Given the description of an element on the screen output the (x, y) to click on. 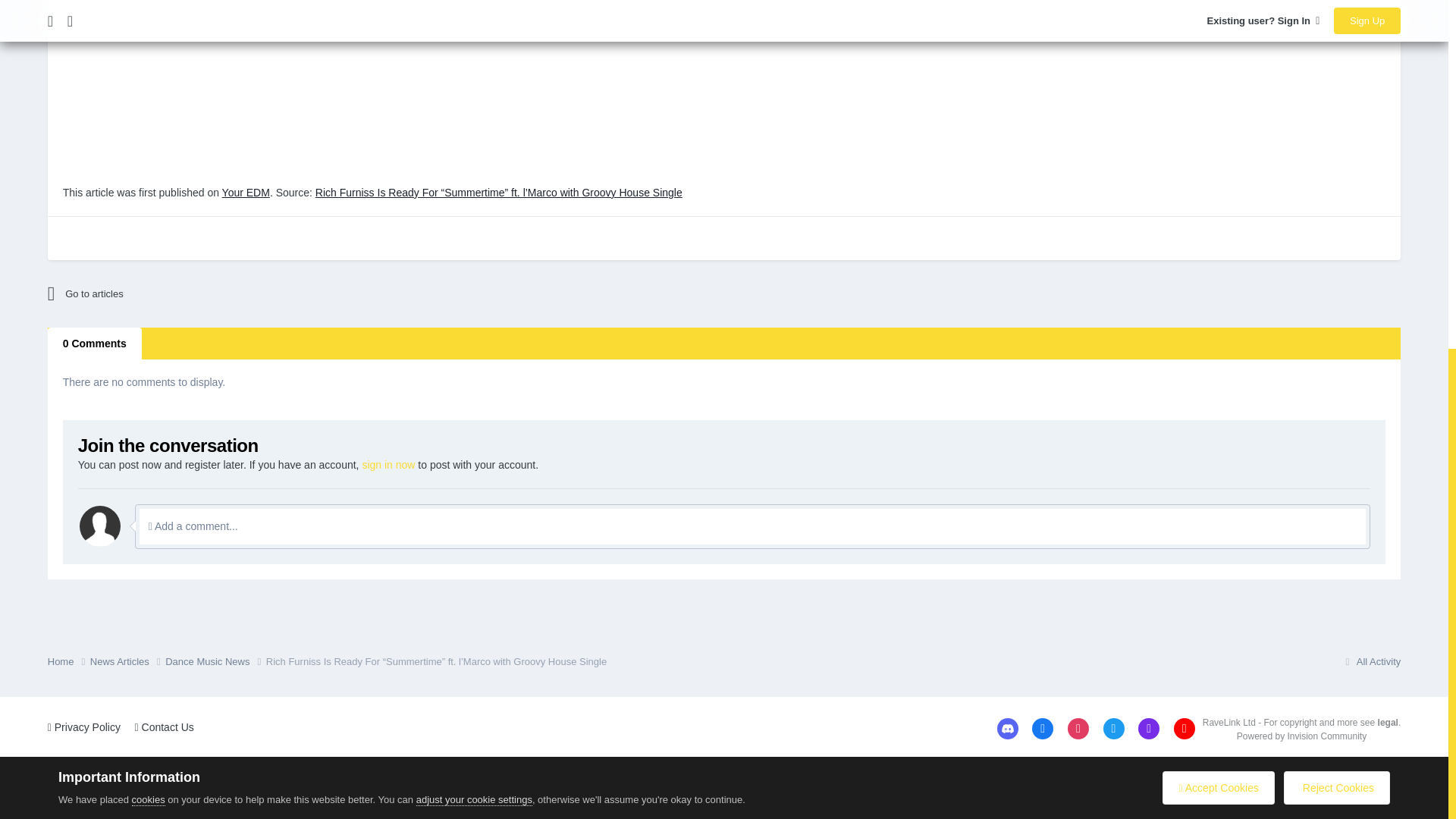
Go to Dance Music News  (180, 293)
0 Comments (94, 343)
